Given the description of an element on the screen output the (x, y) to click on. 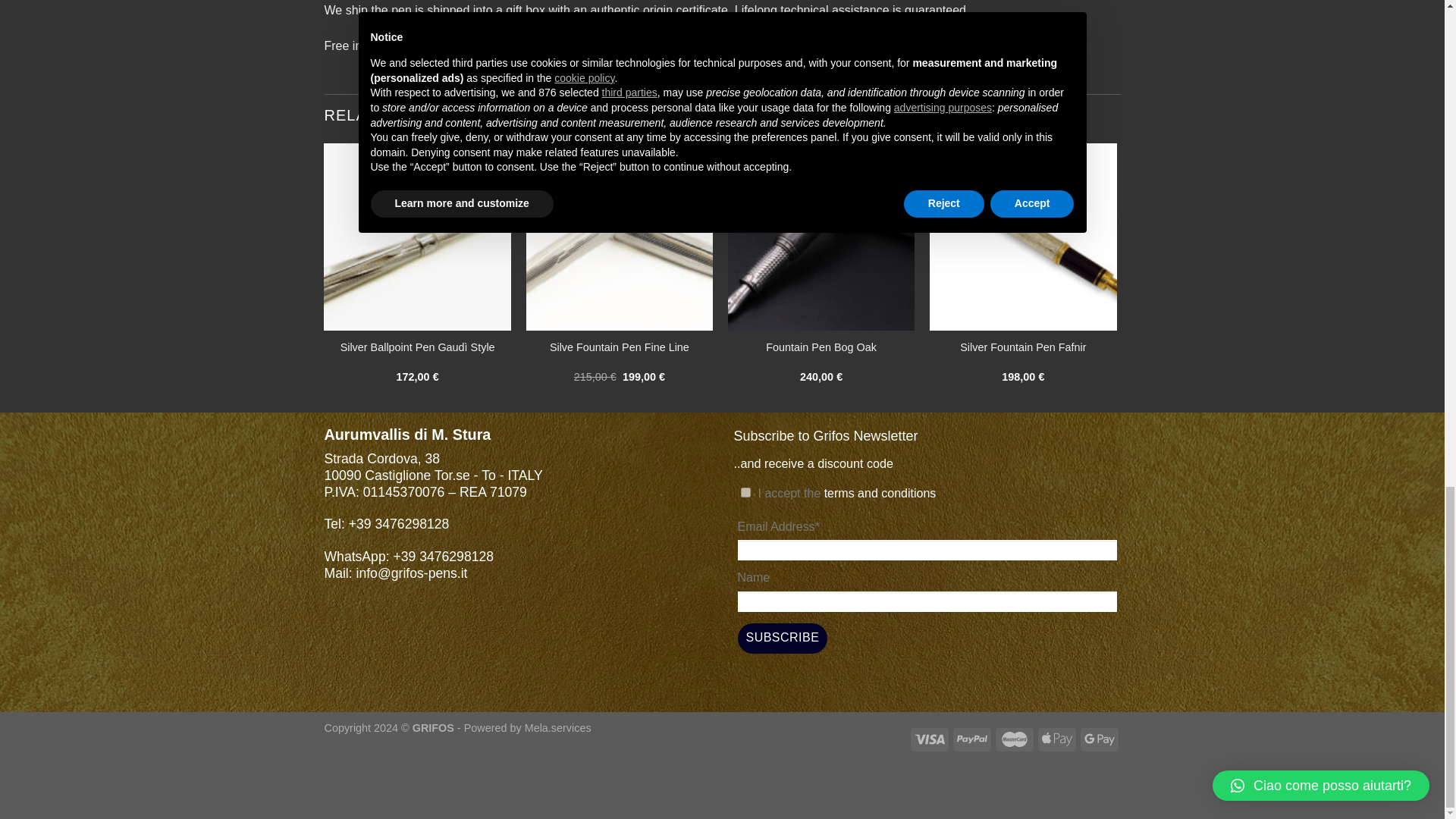
on (744, 492)
Subscribe (781, 638)
